Given the description of an element on the screen output the (x, y) to click on. 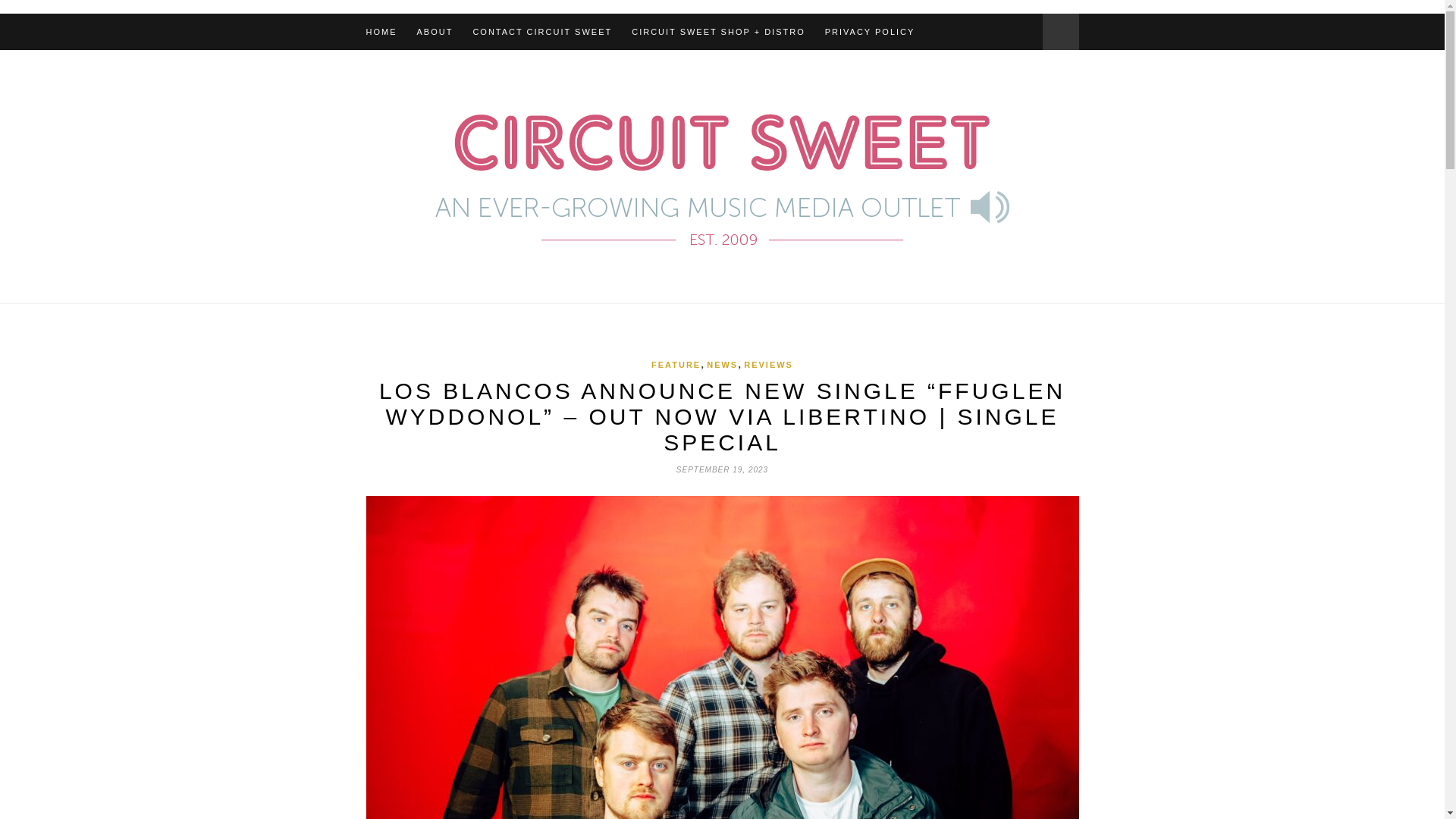
View all posts in News (722, 364)
FEATURE (675, 364)
View all posts in Reviews (768, 364)
View all posts in Feature (675, 364)
CONTACT CIRCUIT SWEET (541, 31)
NEWS (722, 364)
REVIEWS (768, 364)
ABOUT (434, 31)
PRIVACY POLICY (870, 31)
